Given the description of an element on the screen output the (x, y) to click on. 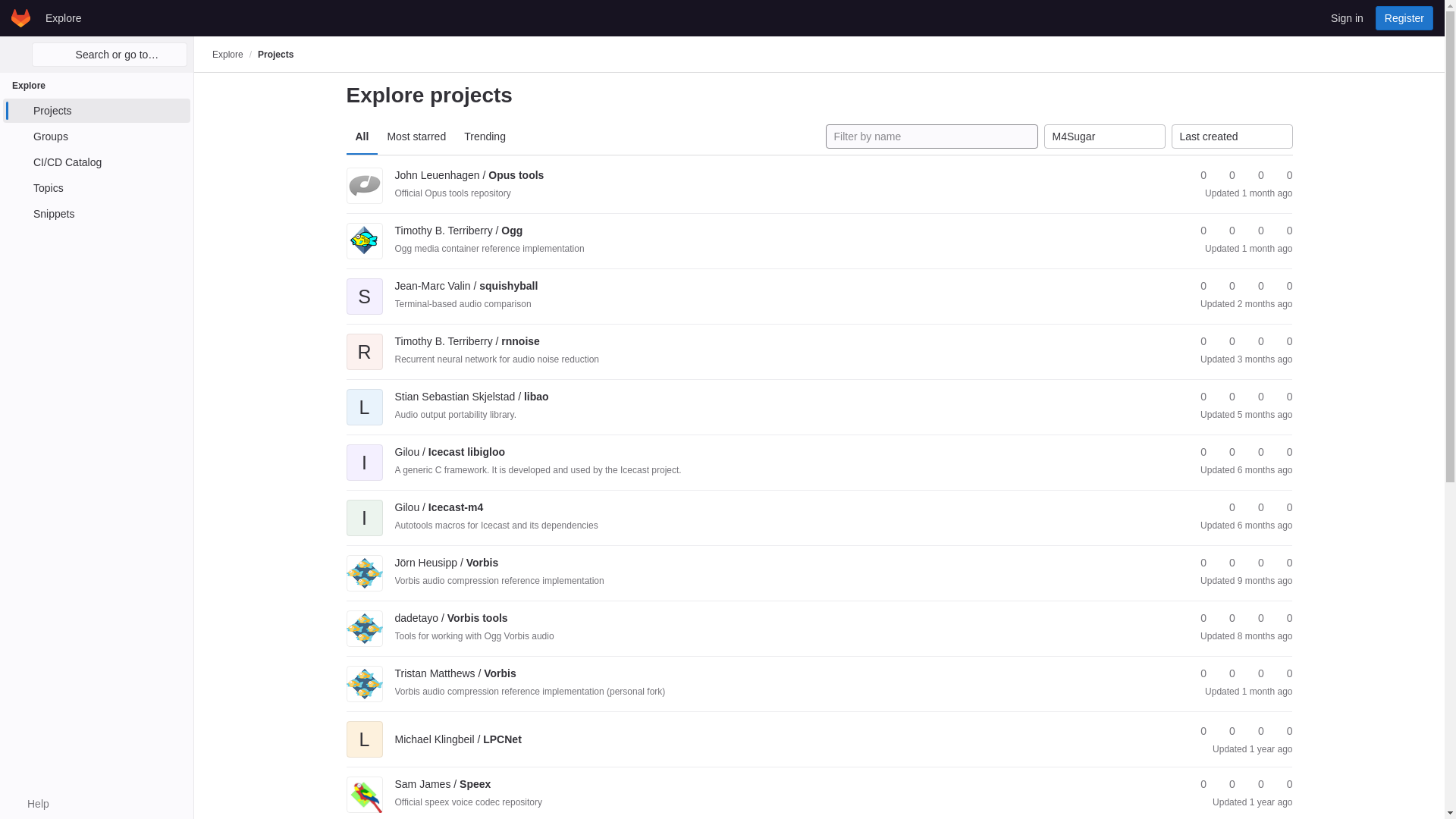
Sign in (1347, 17)
Merge requests (1253, 230)
Most starred (415, 135)
Forks (1224, 230)
Explore (63, 17)
Projects (96, 110)
Topics (96, 187)
M4Sugar (1103, 136)
Forks (1224, 175)
Trending (484, 135)
Stars (1196, 175)
Merge requests (1253, 175)
Stars (1196, 230)
Issues (1282, 230)
Issues (1282, 175)
